Given the description of an element on the screen output the (x, y) to click on. 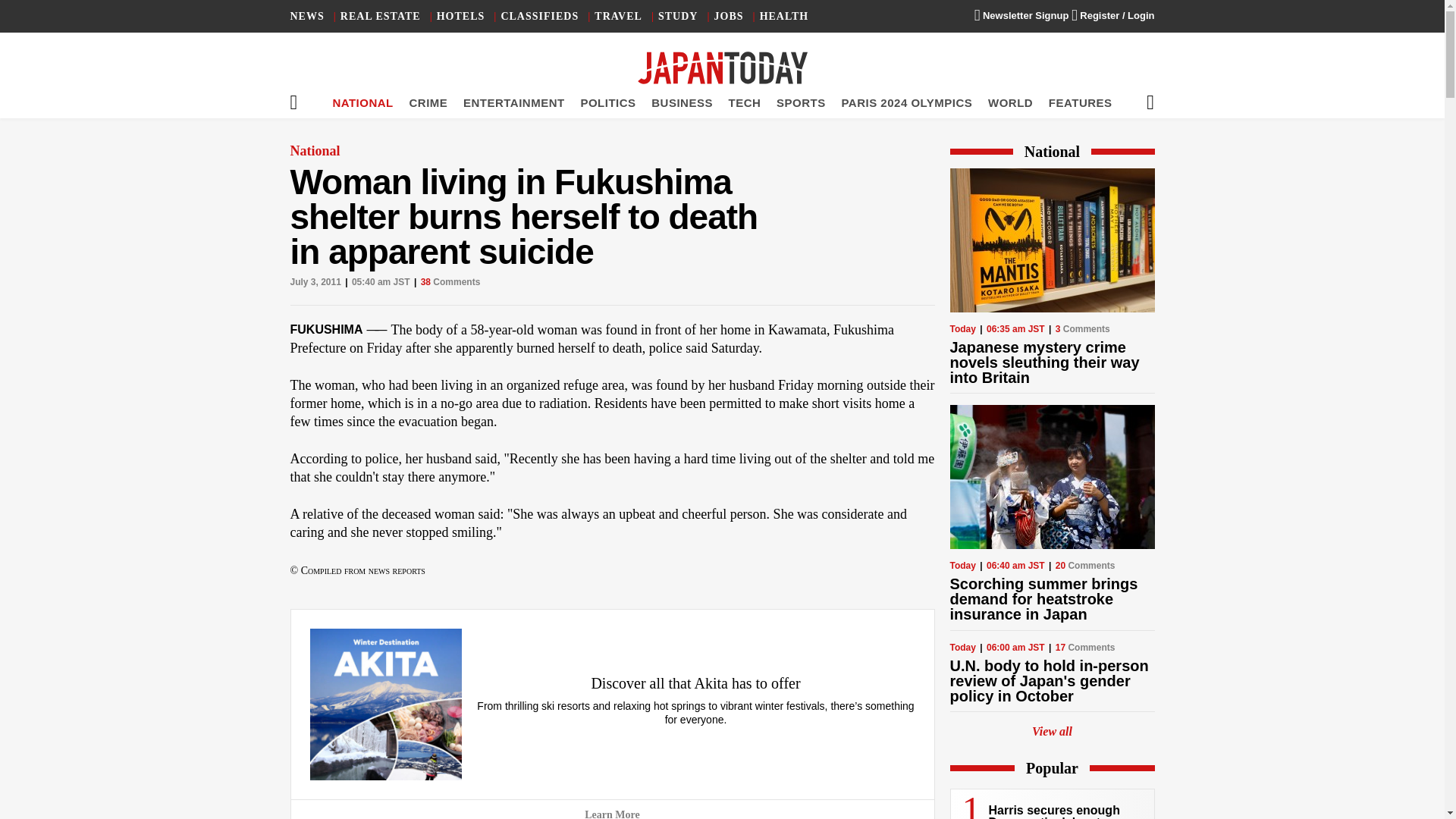
CRIME (427, 102)
JOBS (729, 16)
POLITICS (606, 102)
PARIS 2024 OLYMPICS (906, 102)
Newsletter Signup (1021, 15)
TRAVEL (618, 16)
CLASSIFIEDS (539, 16)
HOTELS (460, 16)
BUSINESS (681, 102)
REAL ESTATE (380, 16)
TECH (745, 102)
Japan Today (721, 67)
